Given the description of an element on the screen output the (x, y) to click on. 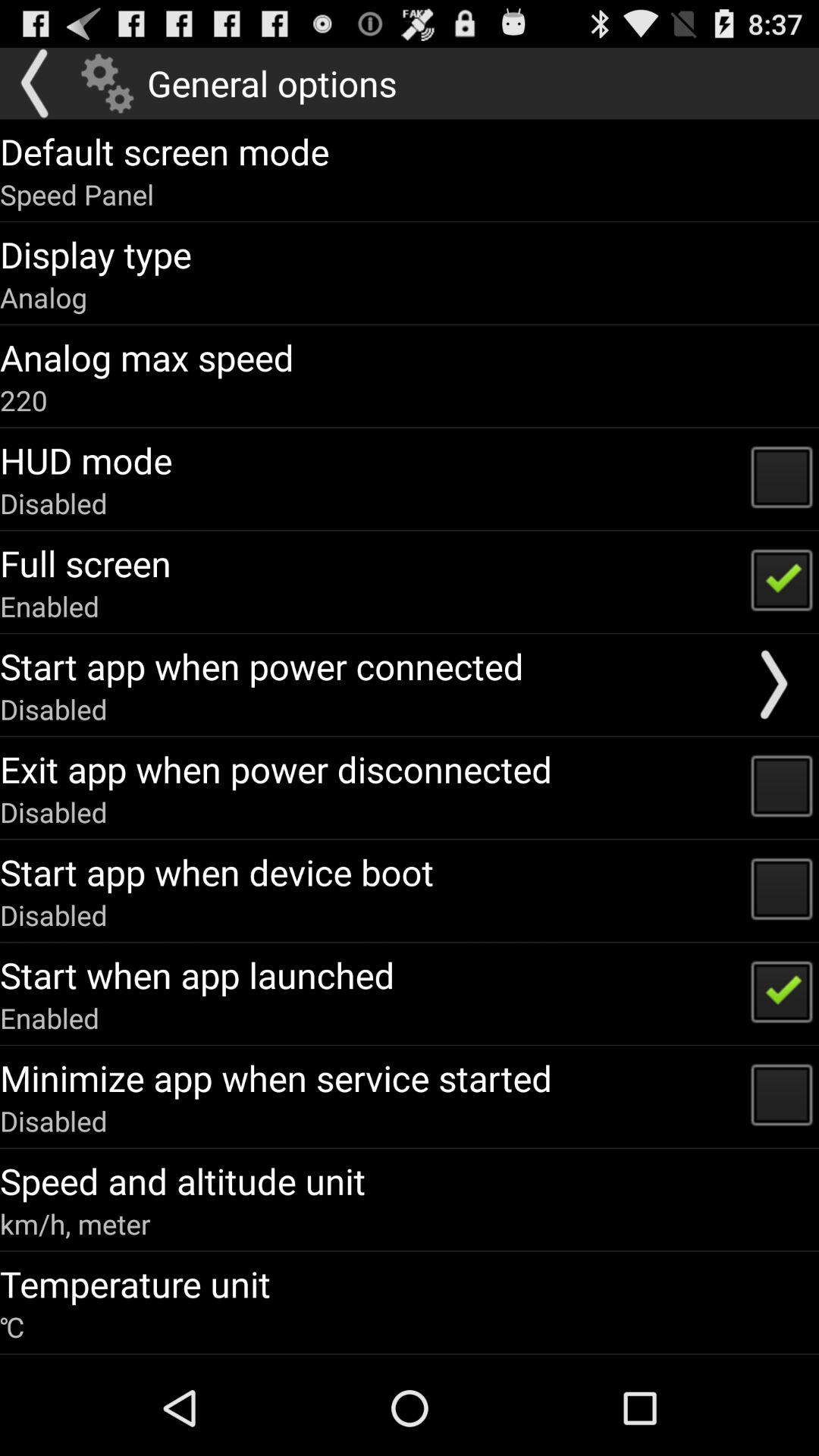
turn on the app below the 220 app (86, 460)
